Given the description of an element on the screen output the (x, y) to click on. 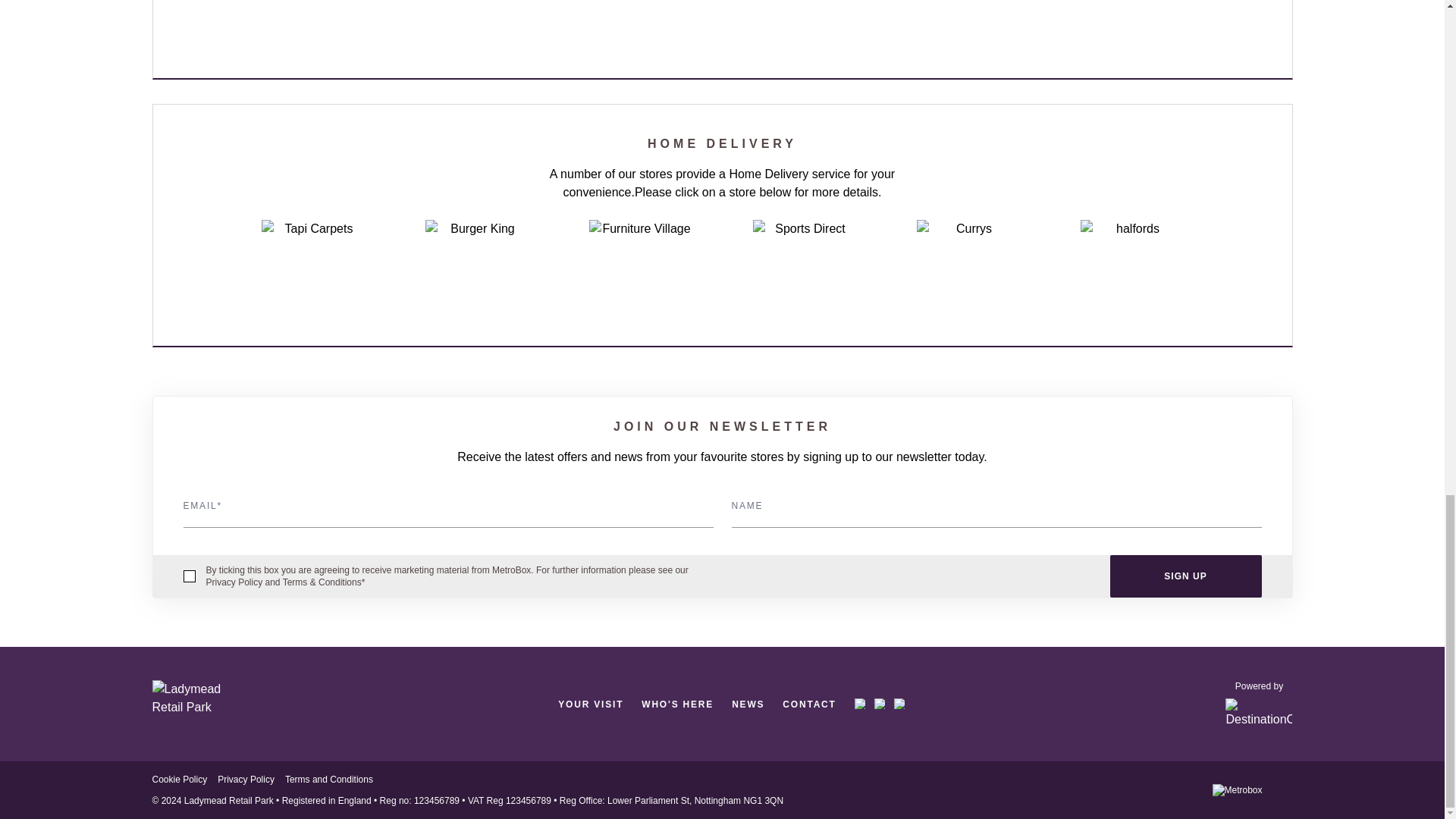
on (189, 576)
Ladymead Retail Park instagram (880, 703)
Ladymead Retail Park facebook (859, 703)
